Given the description of an element on the screen output the (x, y) to click on. 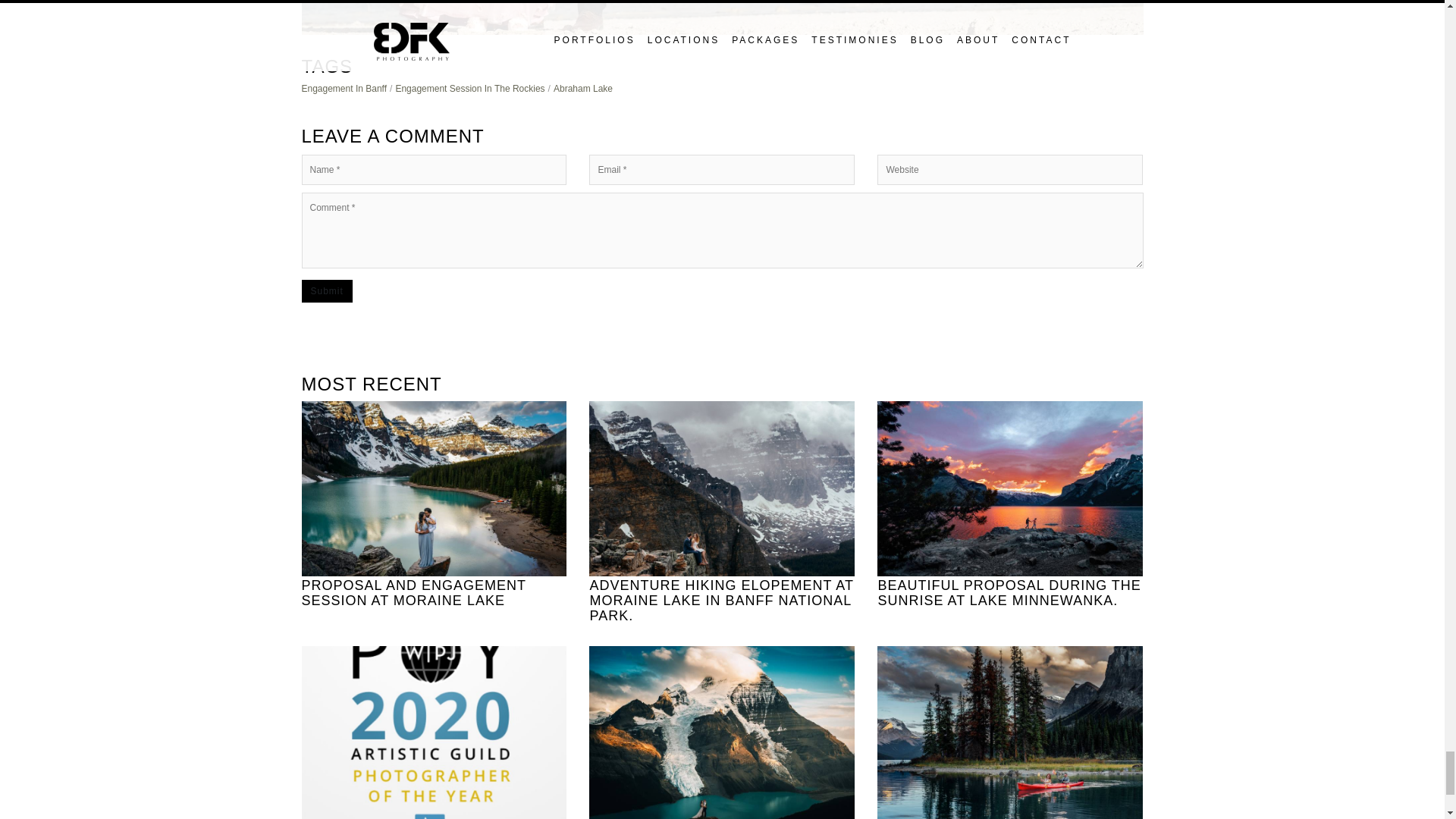
Engagement In Banff (344, 88)
PROPOSAL AND ENGAGEMENT SESSION AT MORAINE LAKE (434, 504)
Engagement Session In The Rockies (469, 88)
Submit (326, 291)
KAYAKING ADVENTURE ELOPEMENT TO SPIRIT ISLAND. (1009, 732)
BEAUTIFUL PROPOSAL DURING THE SUNRISE AT LAKE MINNEWANKA. (1009, 504)
Abraham Lake (582, 88)
